Given the description of an element on the screen output the (x, y) to click on. 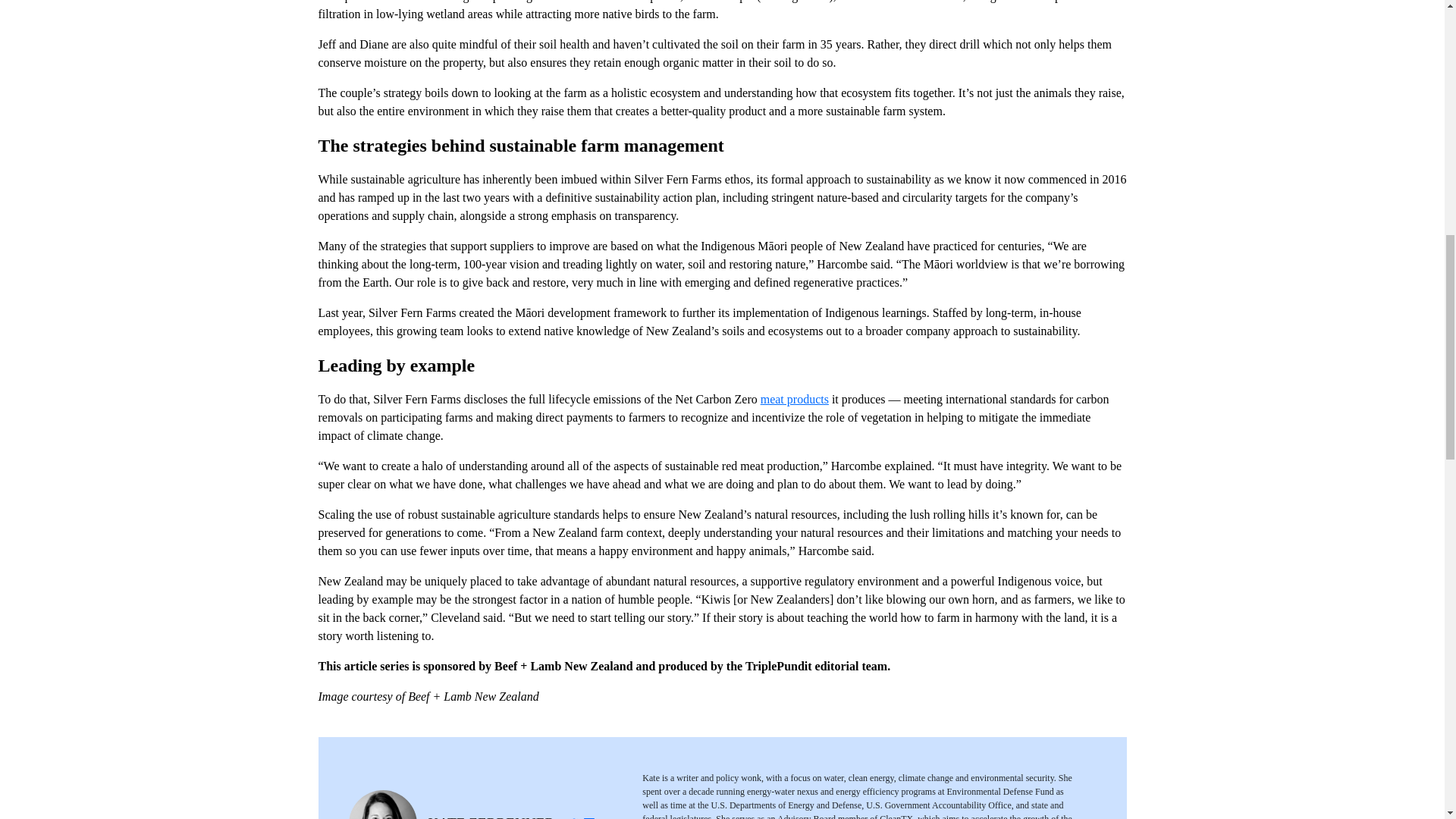
Kate Zerrenner author page (491, 816)
meat products (794, 399)
KATE ZERRENNER (491, 816)
